Given the description of an element on the screen output the (x, y) to click on. 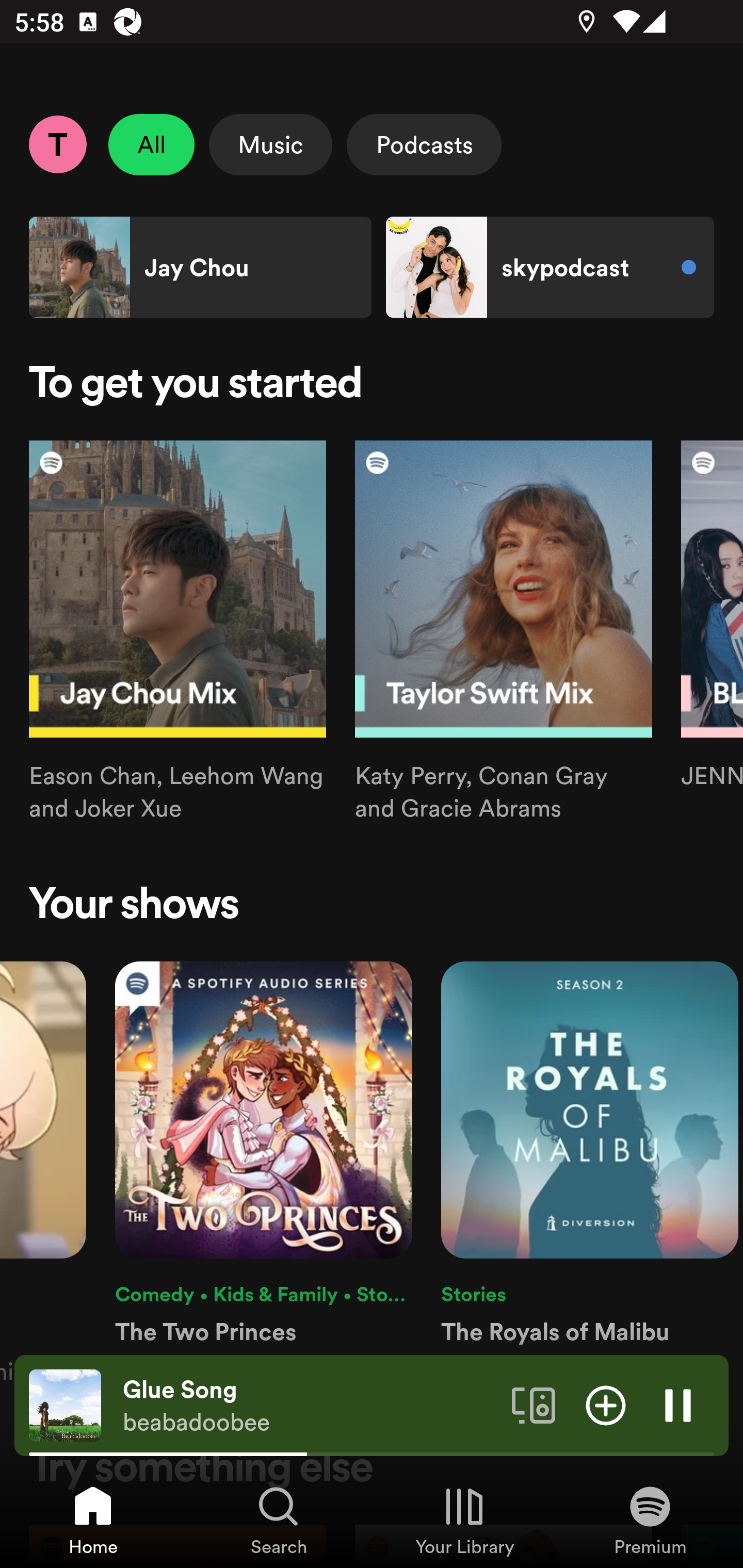
Profile (57, 144)
All Unselect All (151, 144)
Music Select Music (270, 144)
Podcasts Select Podcasts (423, 144)
Jay Chou Shortcut Jay Chou (199, 267)
skypodcast Shortcut skypodcast New content (549, 267)
Stories The Royals of Malibu Show • Diversion (589, 1174)
Glue Song beabadoobee (309, 1405)
The cover art of the currently playing track (64, 1404)
Connect to a device. Opens the devices menu (533, 1404)
Add item (605, 1404)
Pause (677, 1404)
Home, Tab 1 of 4 Home Home (92, 1519)
Search, Tab 2 of 4 Search Search (278, 1519)
Your Library, Tab 3 of 4 Your Library Your Library (464, 1519)
Premium, Tab 4 of 4 Premium Premium (650, 1519)
